Given the description of an element on the screen output the (x, y) to click on. 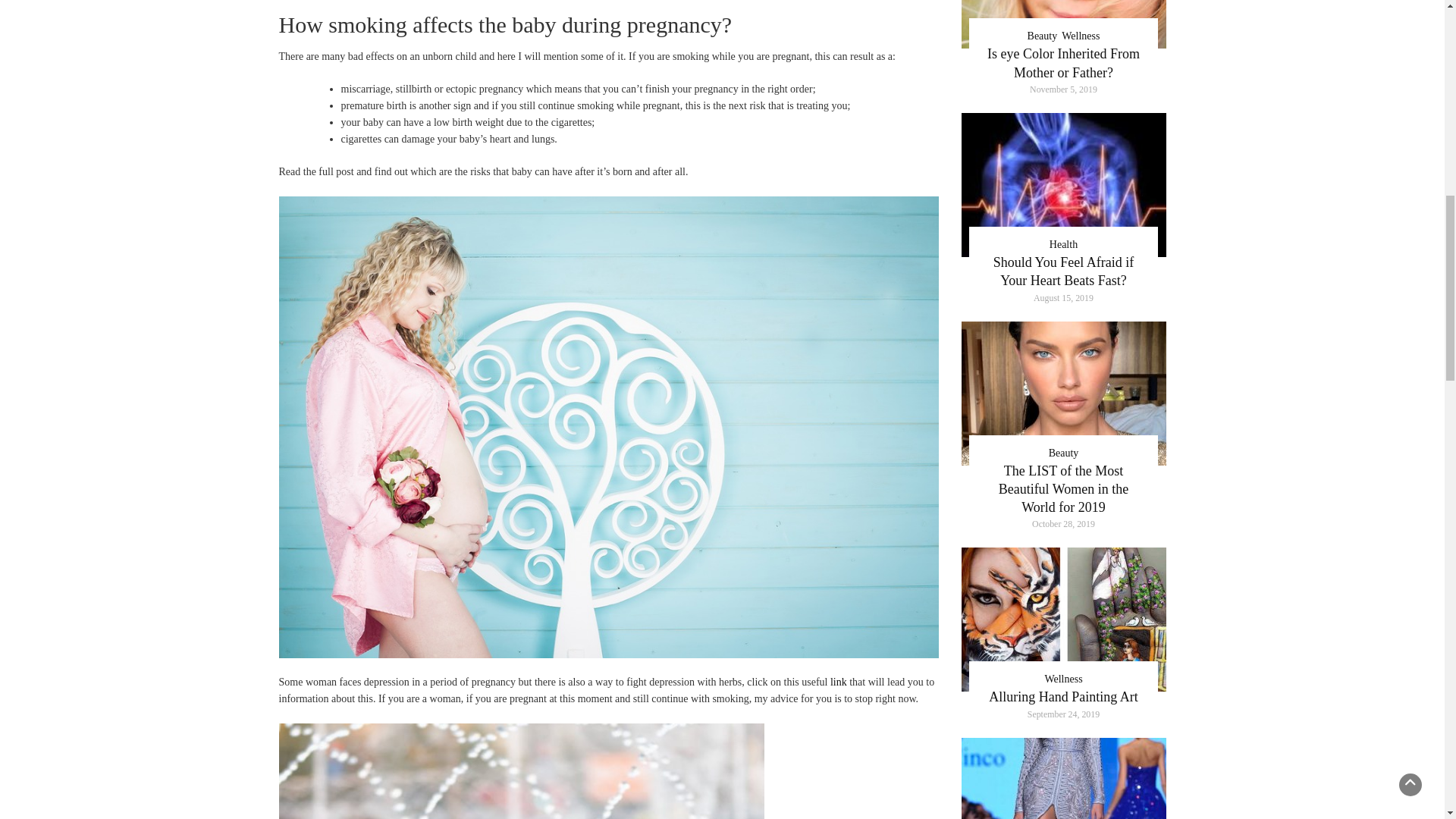
Beauty (1042, 35)
link (838, 681)
Is eye Color Inherited From Mother or Father? (1063, 62)
August 15, 2019 (1062, 298)
Wellness (1080, 35)
Health (1063, 244)
November 5, 2019 (1062, 89)
Should You Feel Afraid if Your Heart Beats Fast? (1063, 271)
